Given the description of an element on the screen output the (x, y) to click on. 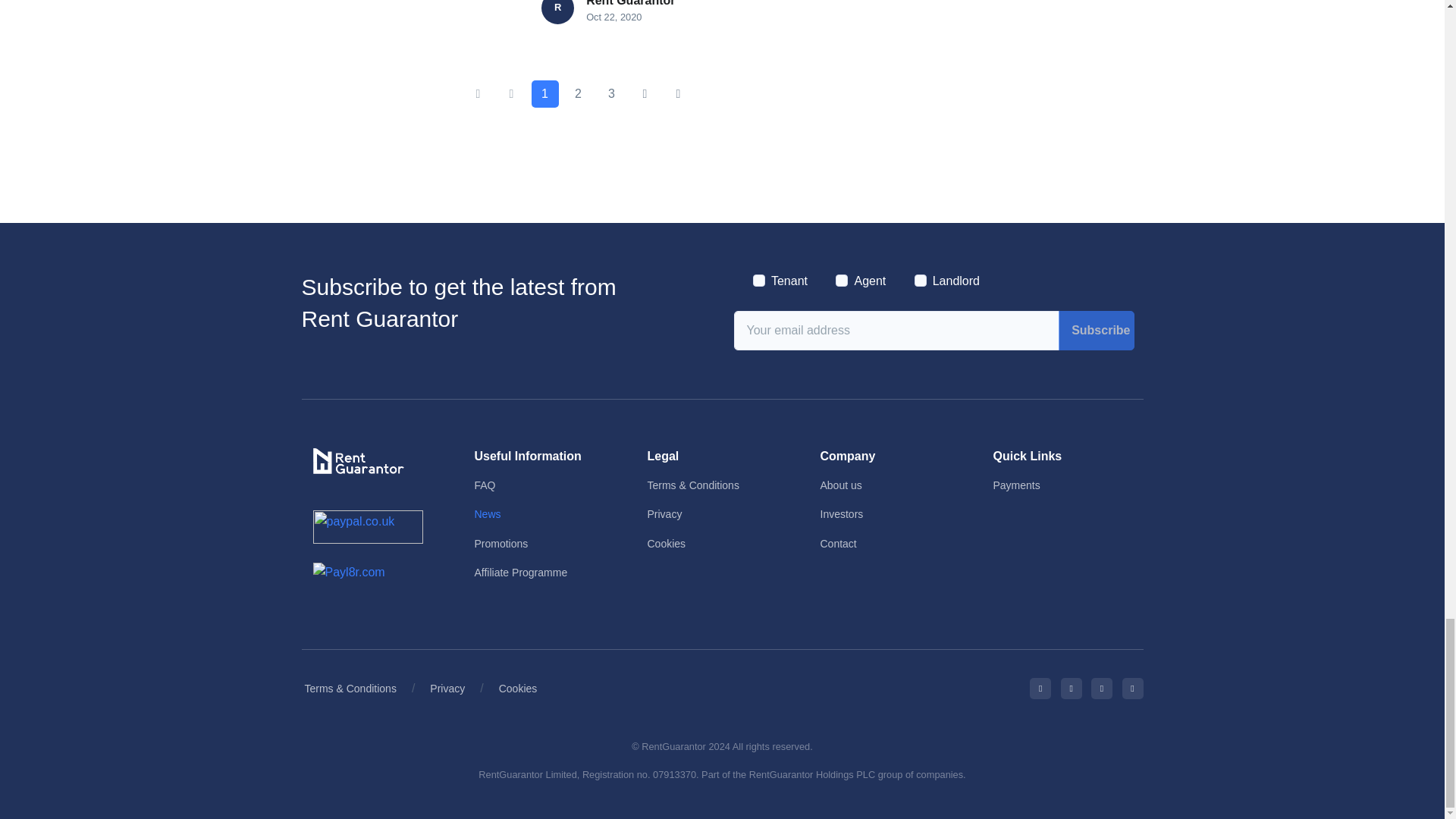
paypal.co.uk (367, 526)
Payl8r.com (348, 572)
Subscribe (1096, 330)
